Given the description of an element on the screen output the (x, y) to click on. 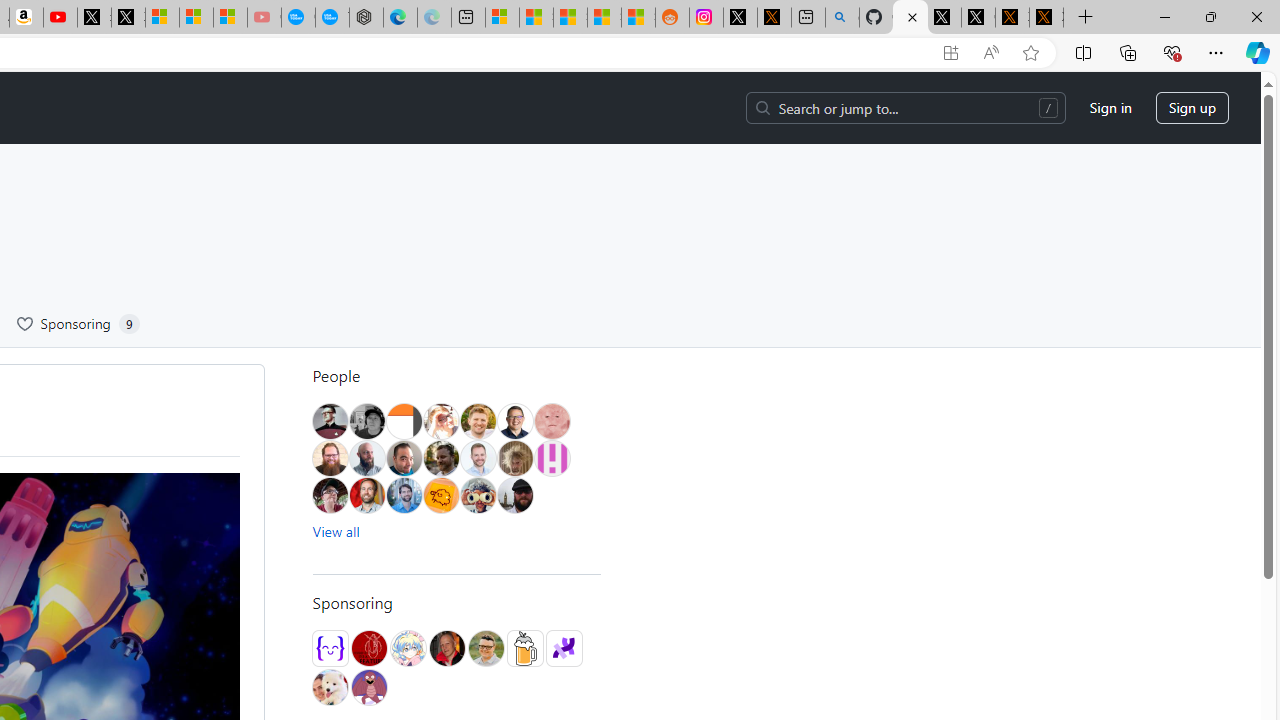
View all (335, 531)
@zx2c4 (368, 687)
@sbryant (551, 457)
@kivikakk (408, 648)
@Homebrew (524, 648)
@arthurschreiber (440, 421)
@omgitsads (440, 457)
@digitarald (367, 495)
@abraham (330, 457)
@northrup (514, 495)
